Given the description of an element on the screen output the (x, y) to click on. 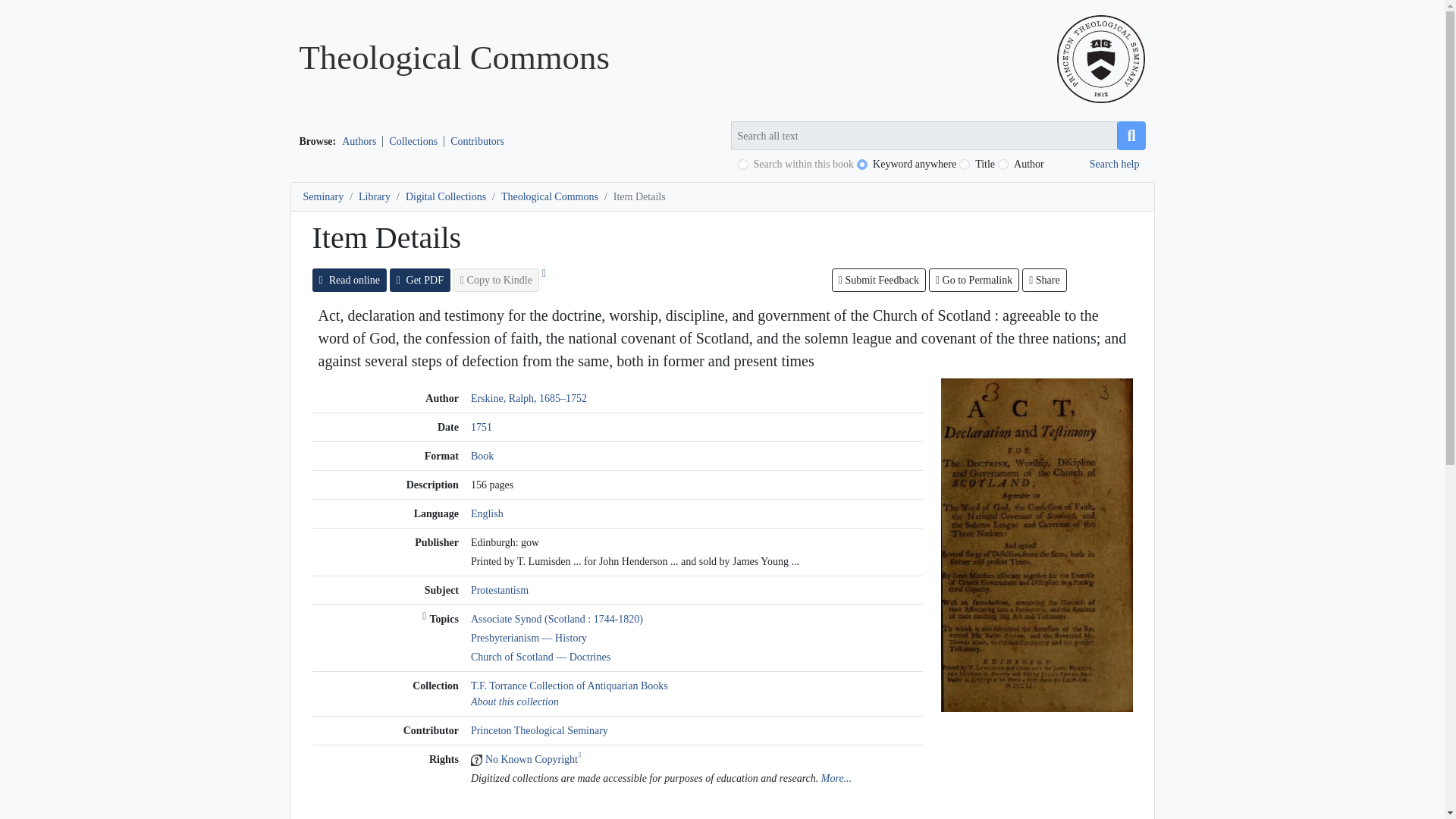
View all items with this subject (499, 590)
What is this? (425, 618)
1751 (481, 427)
Submit Feedback (878, 279)
Go to Permalink (973, 279)
View all items by this author (528, 398)
Book (481, 455)
Seminary (322, 196)
 Copy to Kindle (495, 279)
View all items from this date (481, 427)
all (862, 163)
Read online (1036, 543)
Contributors (477, 141)
Read online (350, 279)
Search help (1114, 163)
